Given the description of an element on the screen output the (x, y) to click on. 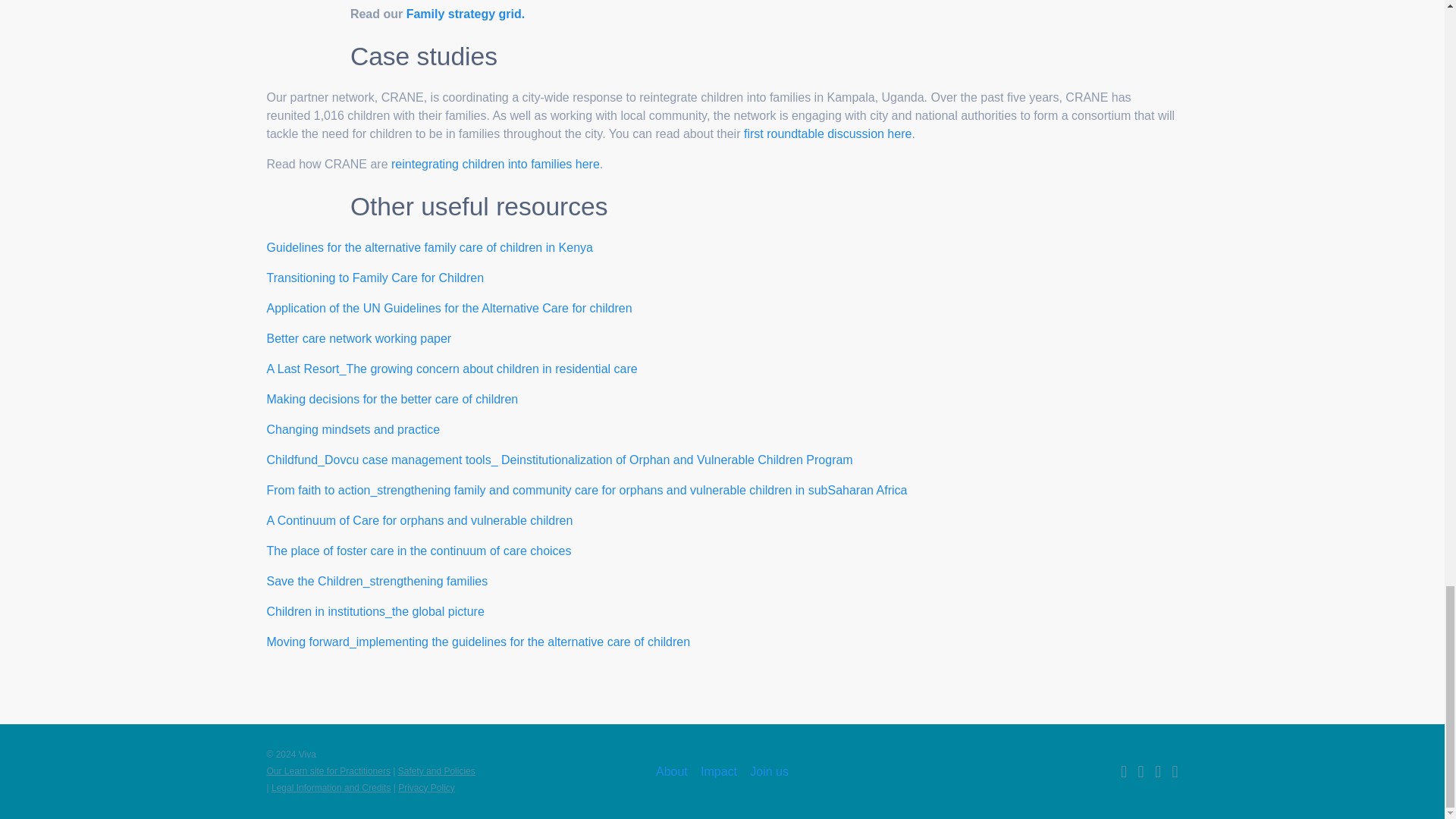
Family strategy grid. (465, 13)
first roundtable discussion here (827, 133)
